Given the description of an element on the screen output the (x, y) to click on. 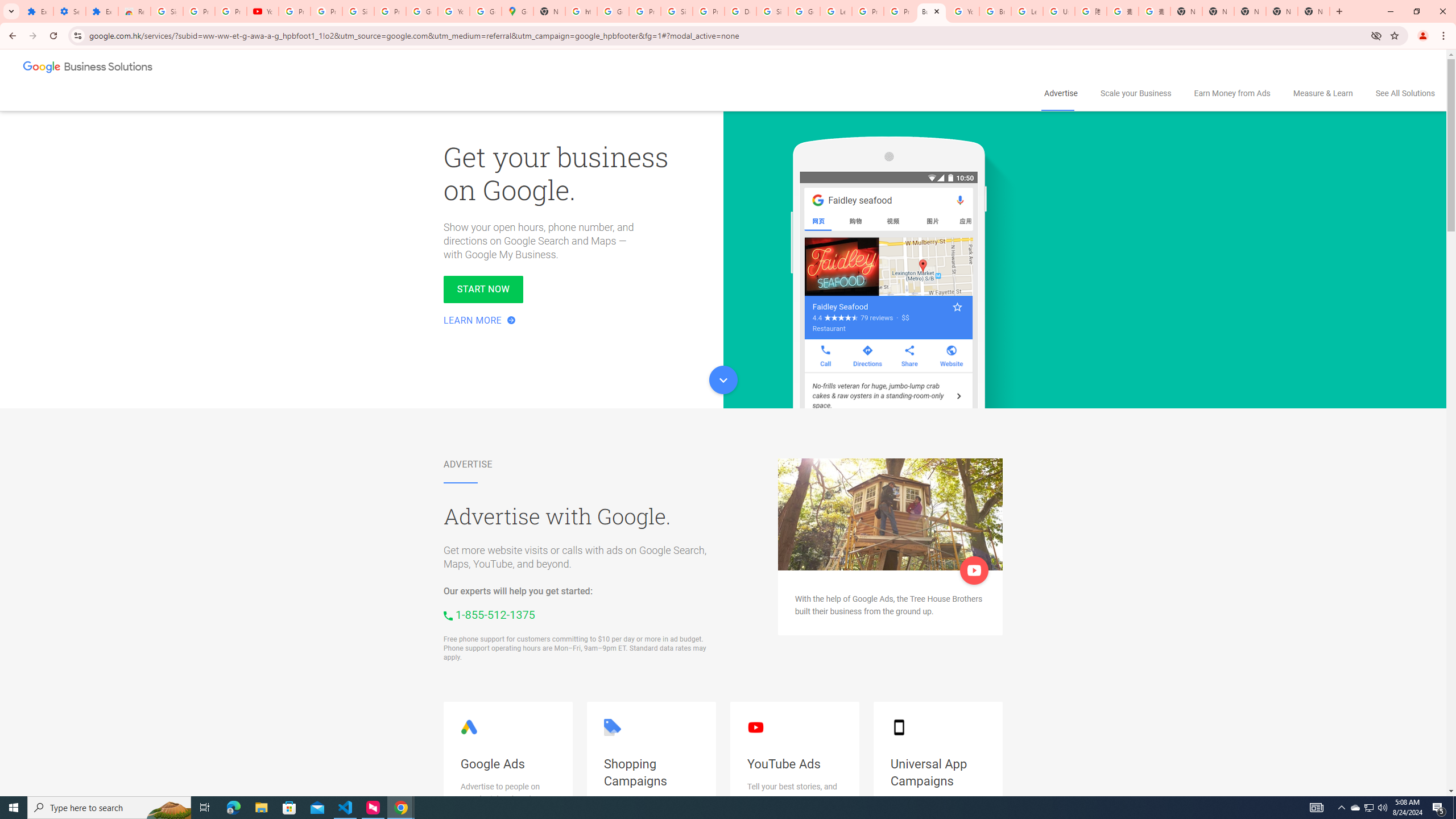
Sign in - Google Accounts (358, 11)
Advertise (1060, 93)
Google Ads logo (468, 727)
Play video (973, 569)
Reviews: Helix Fruit Jump Arcade Game (134, 11)
